Given the description of an element on the screen output the (x, y) to click on. 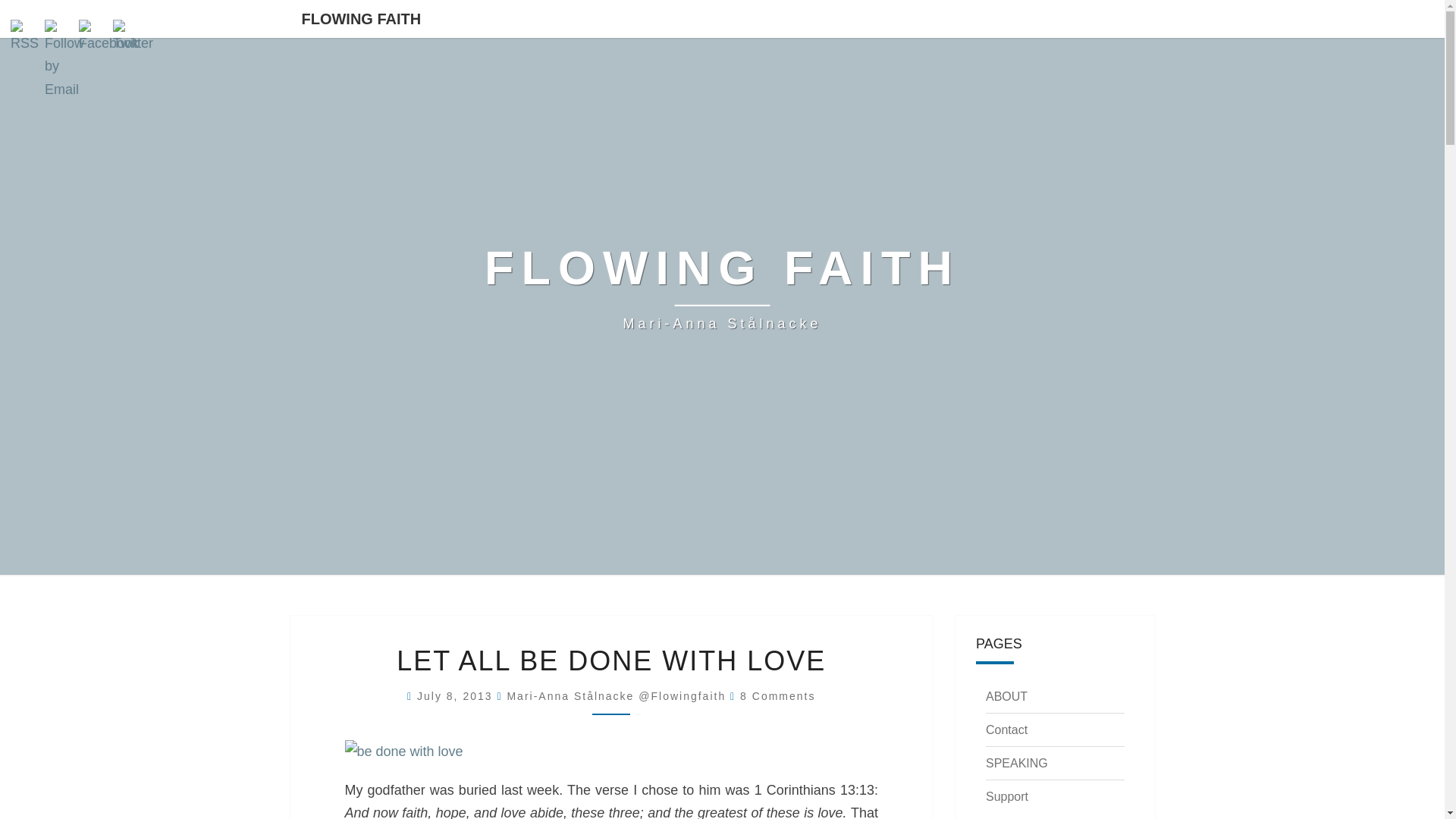
Facebook (108, 37)
RSS (26, 37)
FLOWING FAITH (360, 18)
Twitter (132, 37)
1:56 pm (456, 695)
8 Comments (777, 695)
July 8, 2013 (456, 695)
Flowing Faith (721, 286)
